Given the description of an element on the screen output the (x, y) to click on. 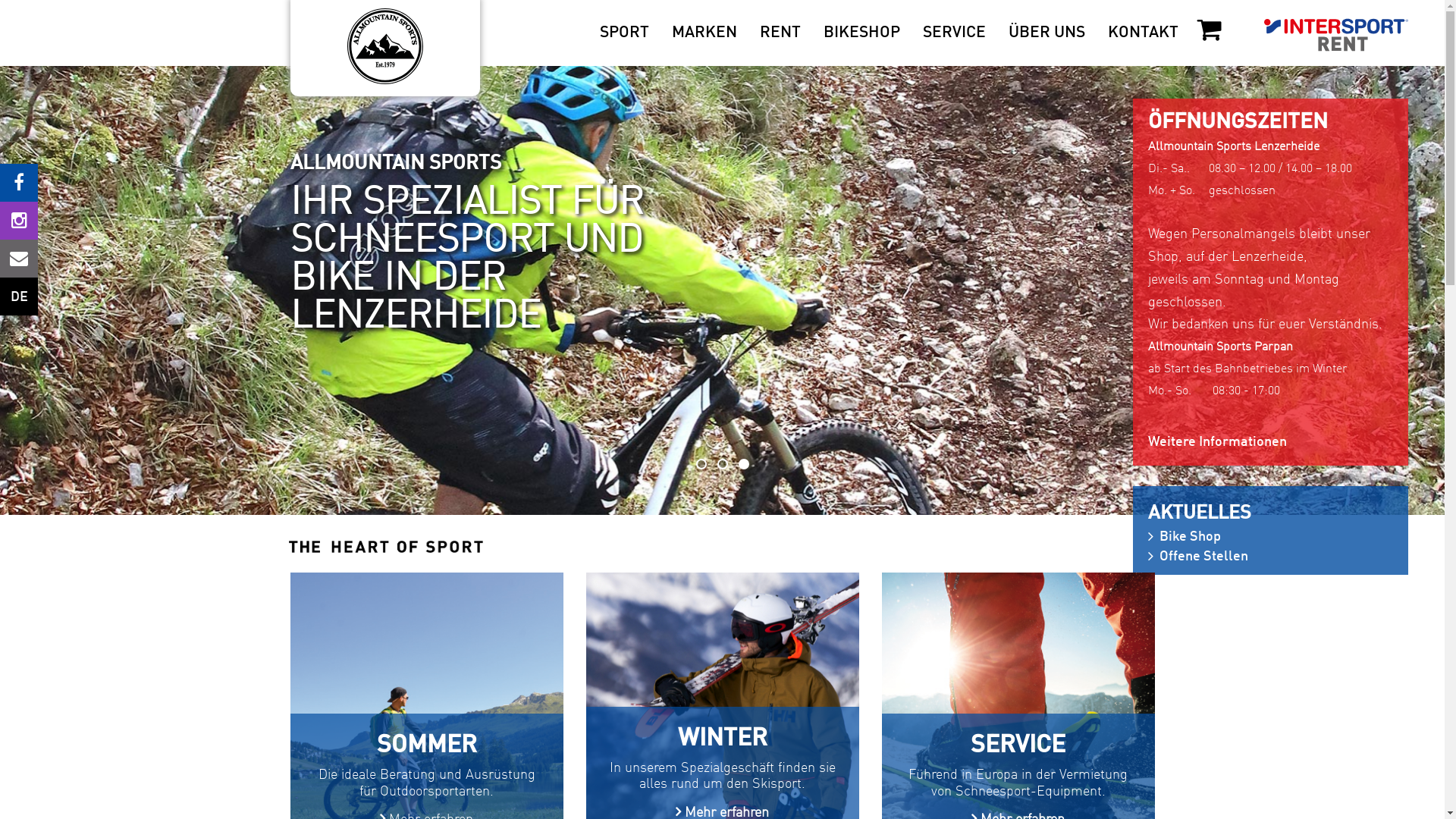
RENT Element type: text (780, 32)
Intersport Rent Mieten Vermietung Element type: hover (1326, 53)
Offene Stellen Element type: text (1203, 556)
SPORT Element type: text (624, 32)
envelope Element type: hover (18, 258)
KONTAKT Element type: text (1142, 32)
SERVICE Element type: text (954, 32)
instagram-link Element type: hover (18, 220)
DE Element type: text (18, 296)
MARKEN Element type: text (704, 32)
BIKESHOP Element type: text (861, 32)
Weitere Informationen Element type: text (1267, 442)
facebook Element type: hover (18, 182)
